Given the description of an element on the screen output the (x, y) to click on. 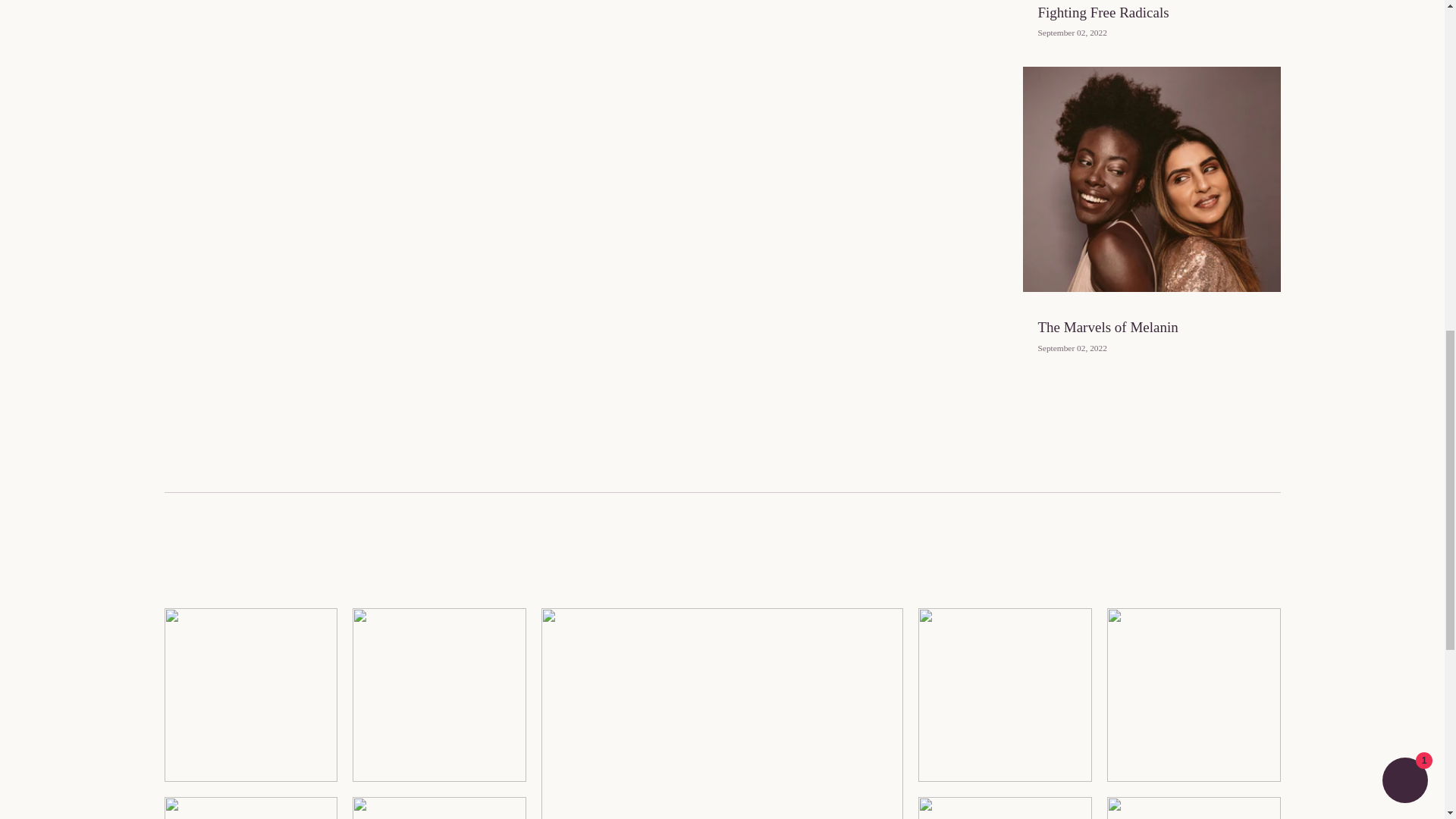
Fighting Free Radicals (1102, 12)
The Marvels of Melanin (1106, 326)
Fighting Free Radicals (1102, 12)
The Marvels of Melanin (1106, 326)
